Given the description of an element on the screen output the (x, y) to click on. 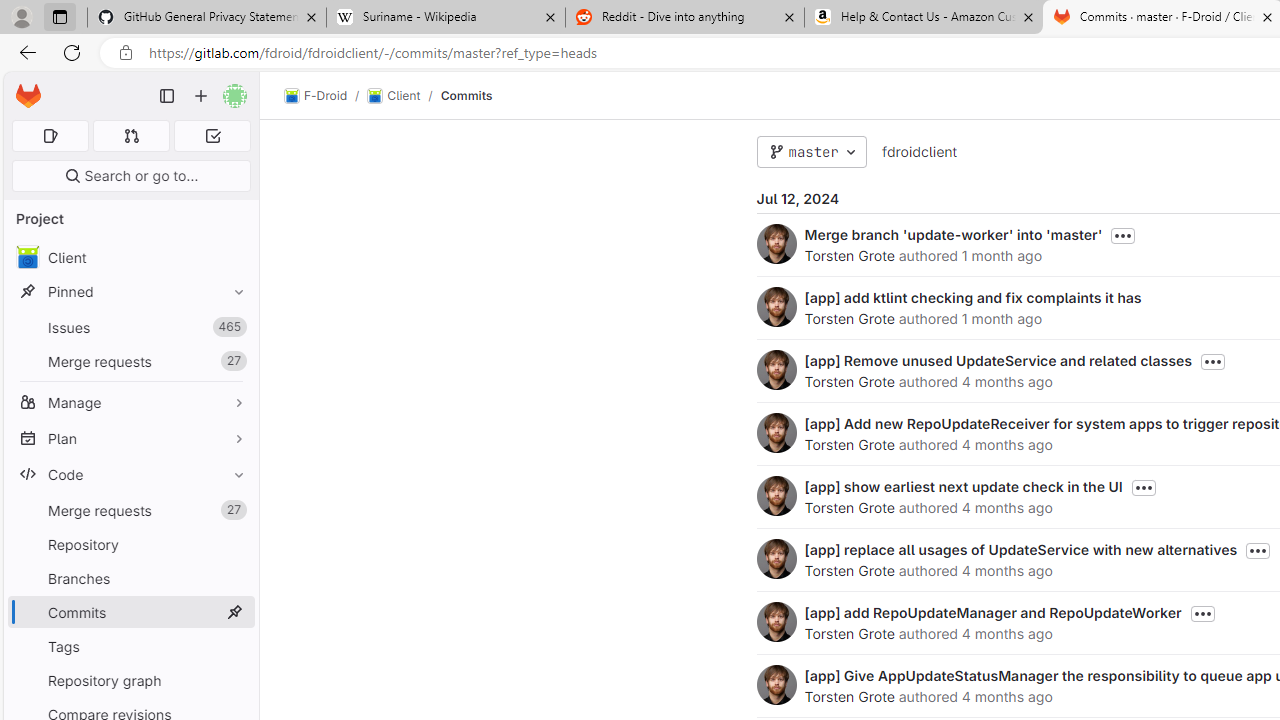
Commits (466, 95)
fdroidclient (918, 151)
Code (130, 474)
Merge requests27 (130, 510)
Help & Contact Us - Amazon Customer Service (924, 17)
Client (130, 257)
Primary navigation sidebar (167, 96)
Issues 465 (130, 327)
Merge branch 'update-worker' into 'master' (953, 234)
Pin Tags (234, 646)
[app] Remove unused UpdateService and related classes (997, 360)
fdroidclient (918, 151)
